Given the description of an element on the screen output the (x, y) to click on. 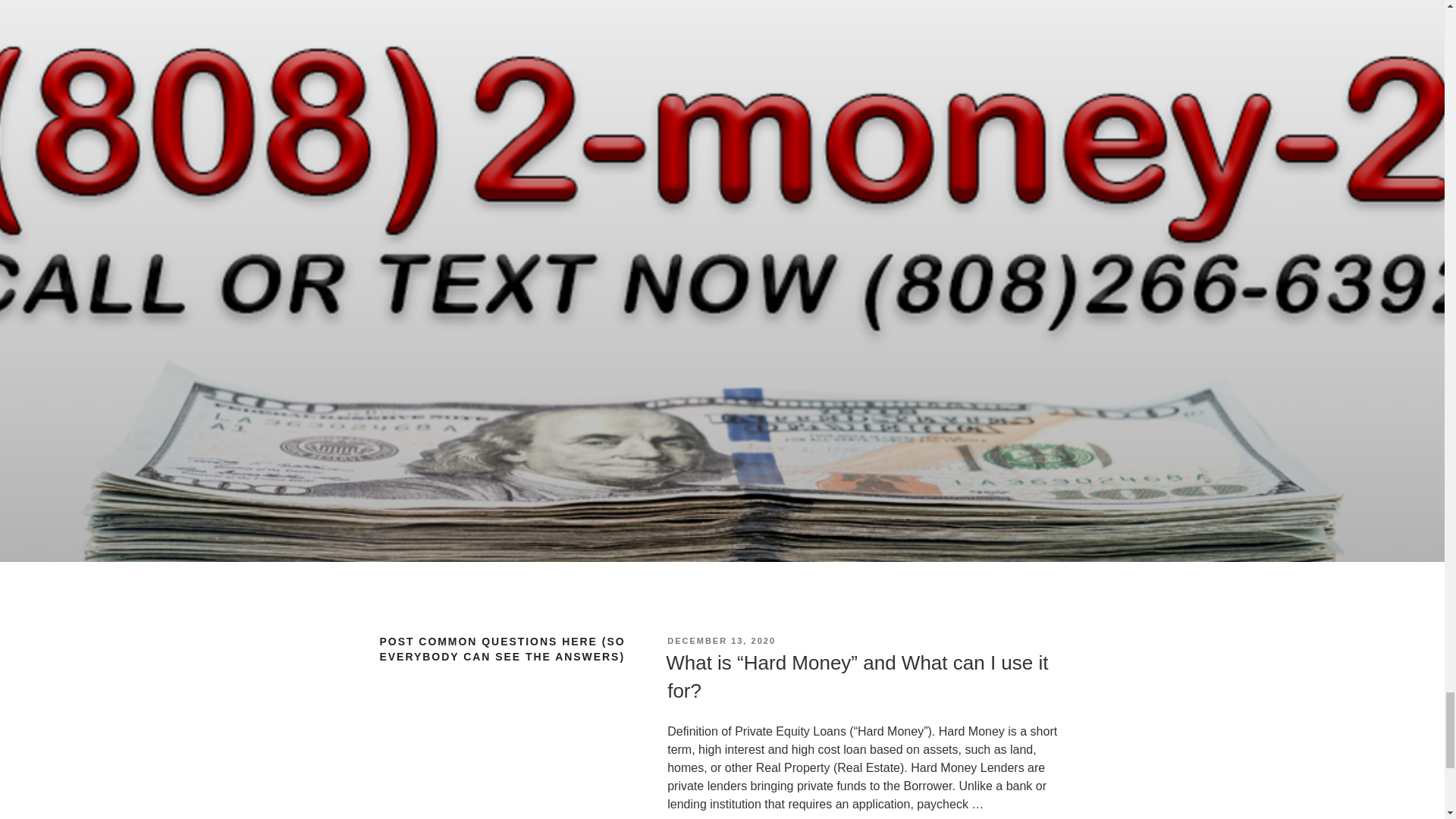
DECEMBER 13, 2020 (721, 640)
